Given the description of an element on the screen output the (x, y) to click on. 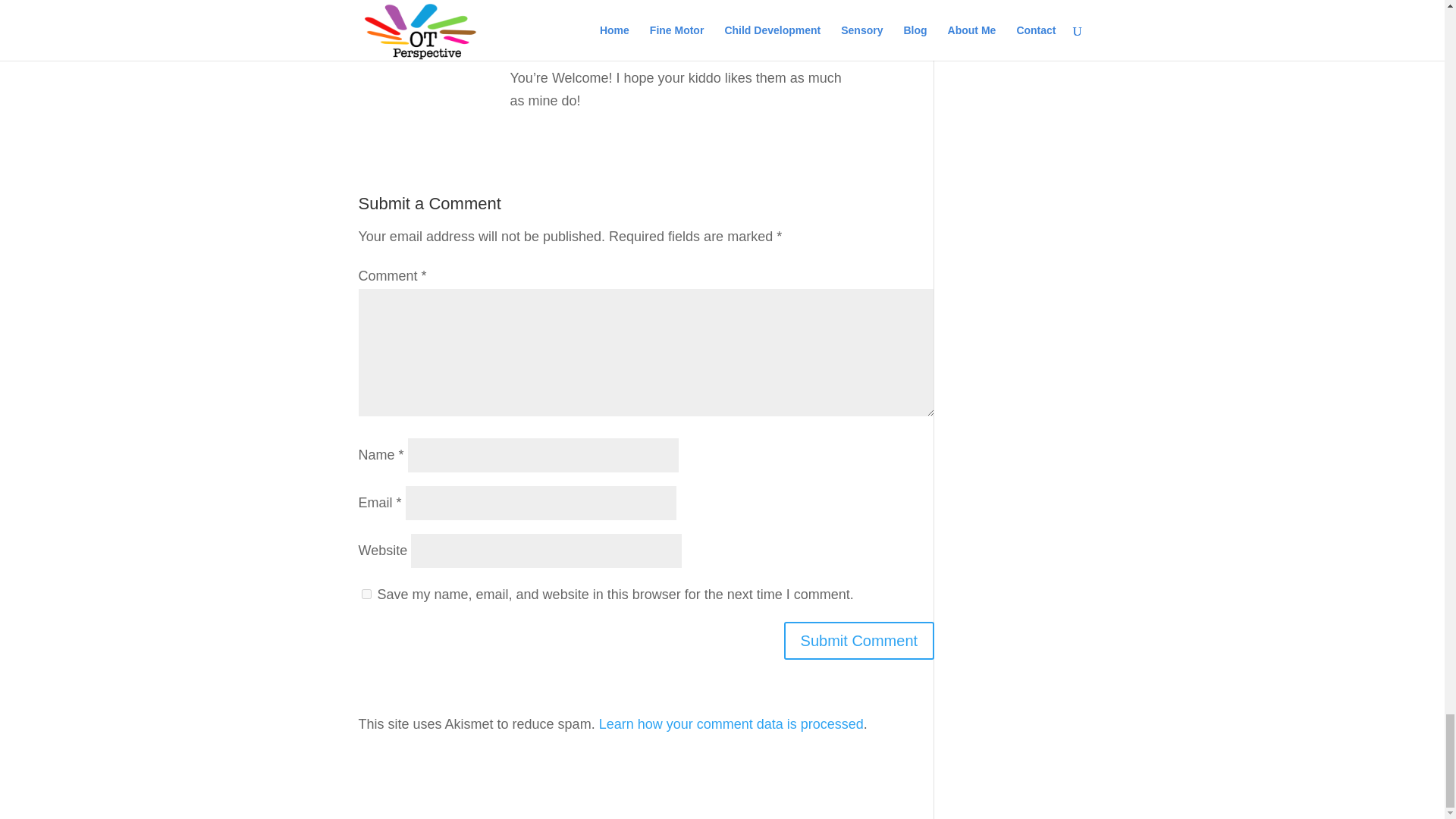
Reply (916, 53)
yes (366, 593)
Submit Comment (859, 640)
Learn how your comment data is processed (730, 723)
Submit Comment (859, 640)
Kelly DeYoung (551, 48)
